Given the description of an element on the screen output the (x, y) to click on. 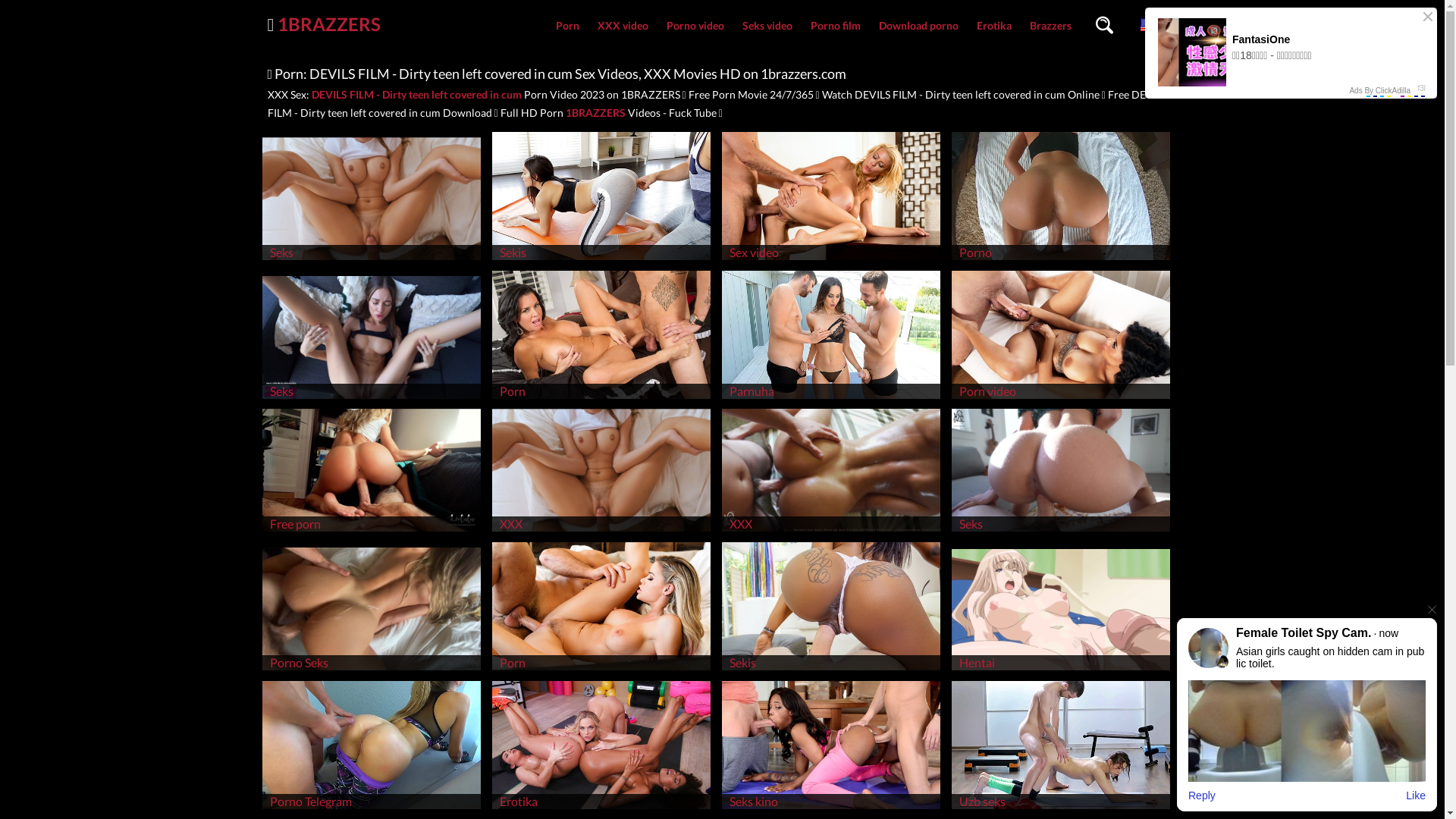
Sekis Element type: text (601, 259)
DEVILS FILM - Dirty teen left covered in cum Element type: text (415, 93)
Download porno Element type: text (917, 25)
1BRAZZERS Element type: text (328, 23)
Seks kino Element type: text (830, 808)
Uzb seks Element type: text (1060, 808)
Porno film Element type: text (834, 25)
XXX video Element type: text (622, 25)
Seks Element type: text (1060, 531)
Free porn Element type: text (371, 531)
Seks Element type: text (371, 398)
Porn video Element type: text (1060, 398)
XXX Element type: text (601, 531)
Porn Element type: text (566, 25)
Parnuha Element type: text (830, 398)
Porn Element type: text (601, 669)
1BRAZZERS Element type: text (595, 112)
Erotika Element type: text (601, 808)
Porno Element type: text (1060, 259)
Porno video Element type: text (694, 25)
Erotika Element type: text (993, 25)
Seks Element type: text (371, 259)
Porn Element type: text (601, 398)
Sex video Element type: text (830, 259)
Porno Telegram Element type: text (371, 808)
Seks video Element type: text (766, 25)
Sekis Element type: text (830, 669)
Hentai Element type: text (1060, 669)
Porno Seks Element type: text (371, 669)
Brazzers Element type: text (1050, 25)
Search videos Element type: hover (1103, 25)
XXX Element type: text (830, 531)
